Given the description of an element on the screen output the (x, y) to click on. 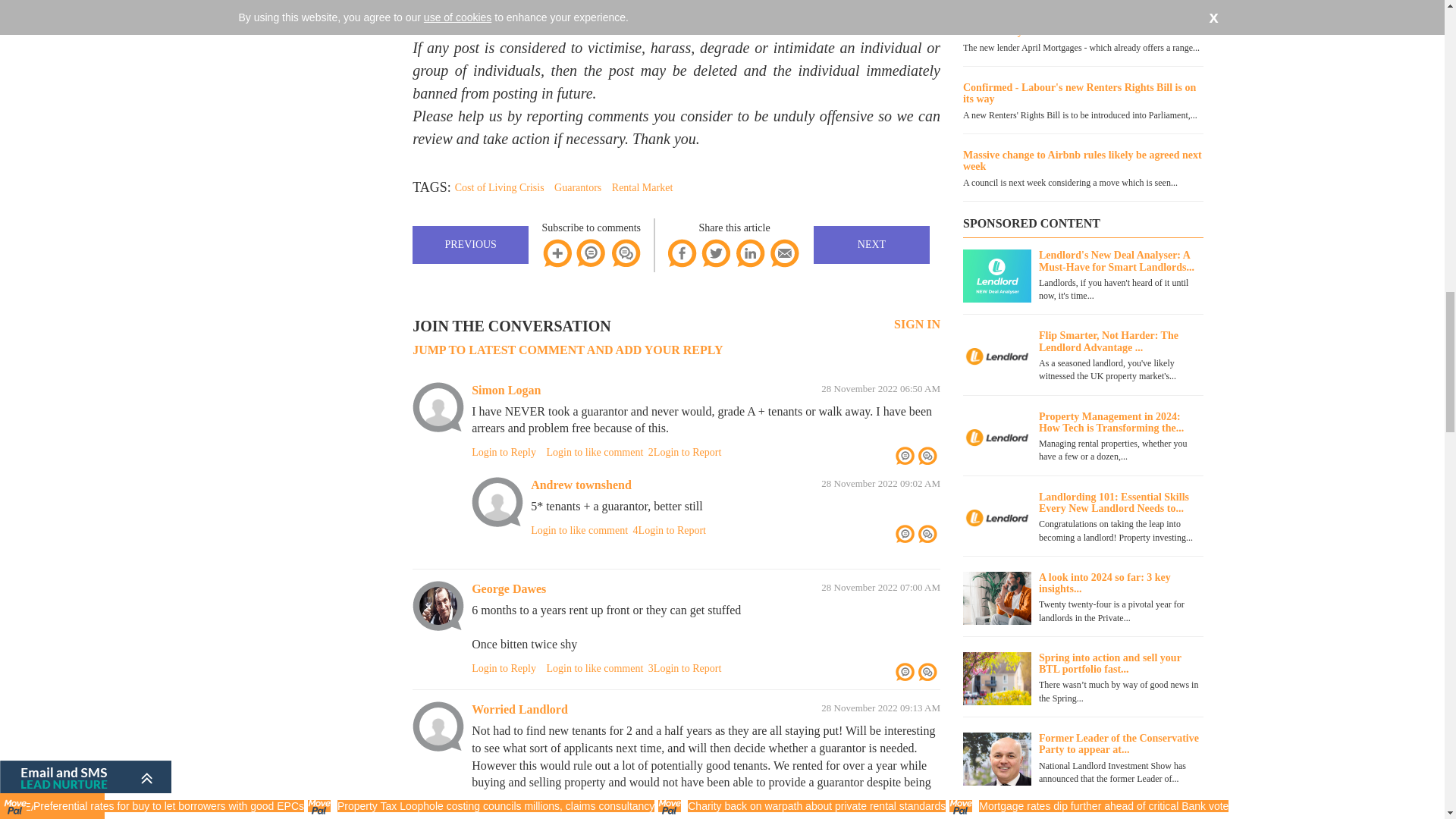
Save for later (556, 253)
Save for later (556, 252)
Subscribe to all comments (625, 253)
Faceboook (681, 253)
Subscribe to comment (591, 253)
Twitter (715, 252)
Subscribe to all comments (625, 252)
Subscribe to comment (591, 252)
Facebook (681, 252)
